Given the description of an element on the screen output the (x, y) to click on. 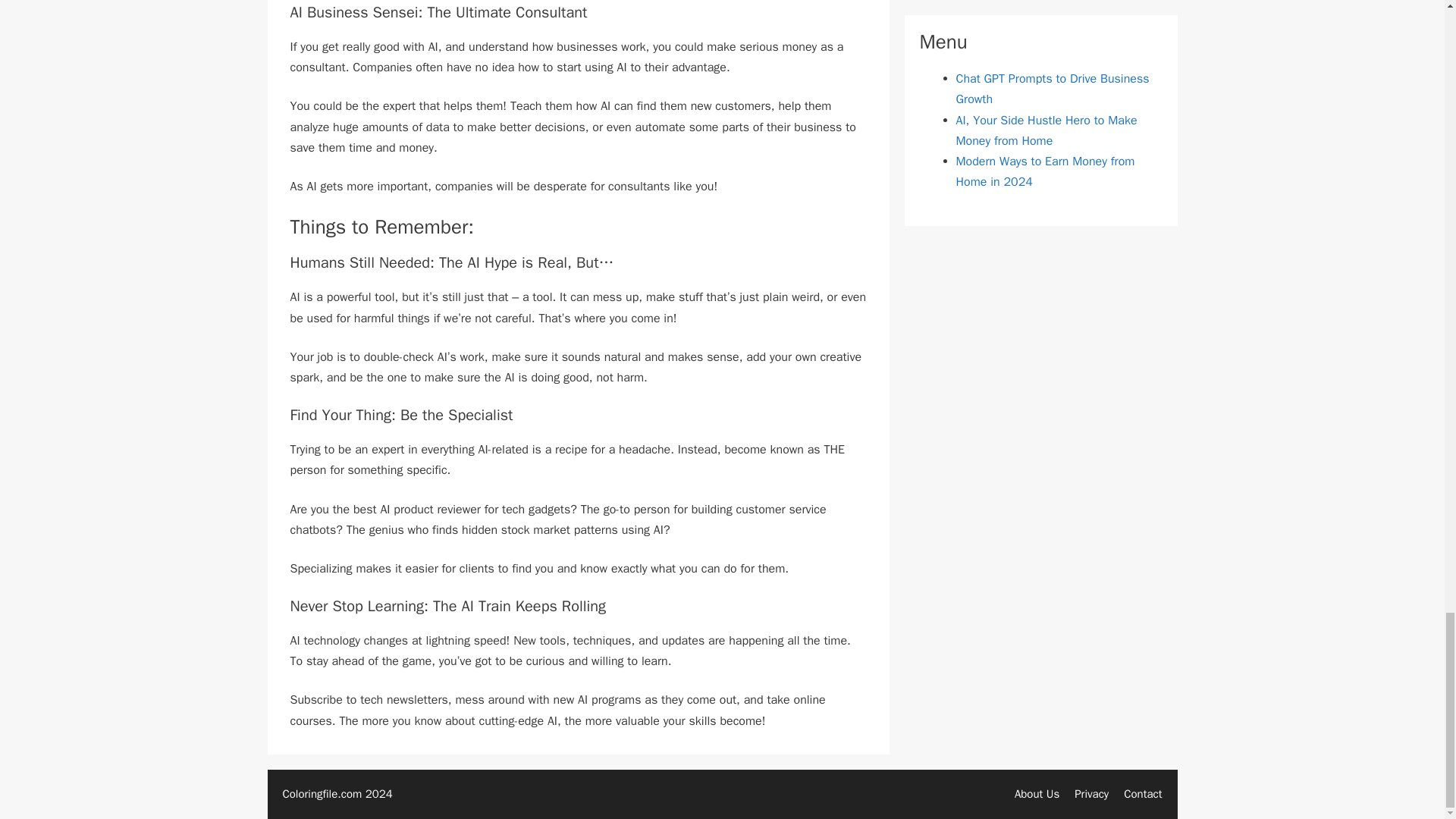
Privacy (1091, 793)
Contact (1142, 793)
About Us (1036, 793)
